Given the description of an element on the screen output the (x, y) to click on. 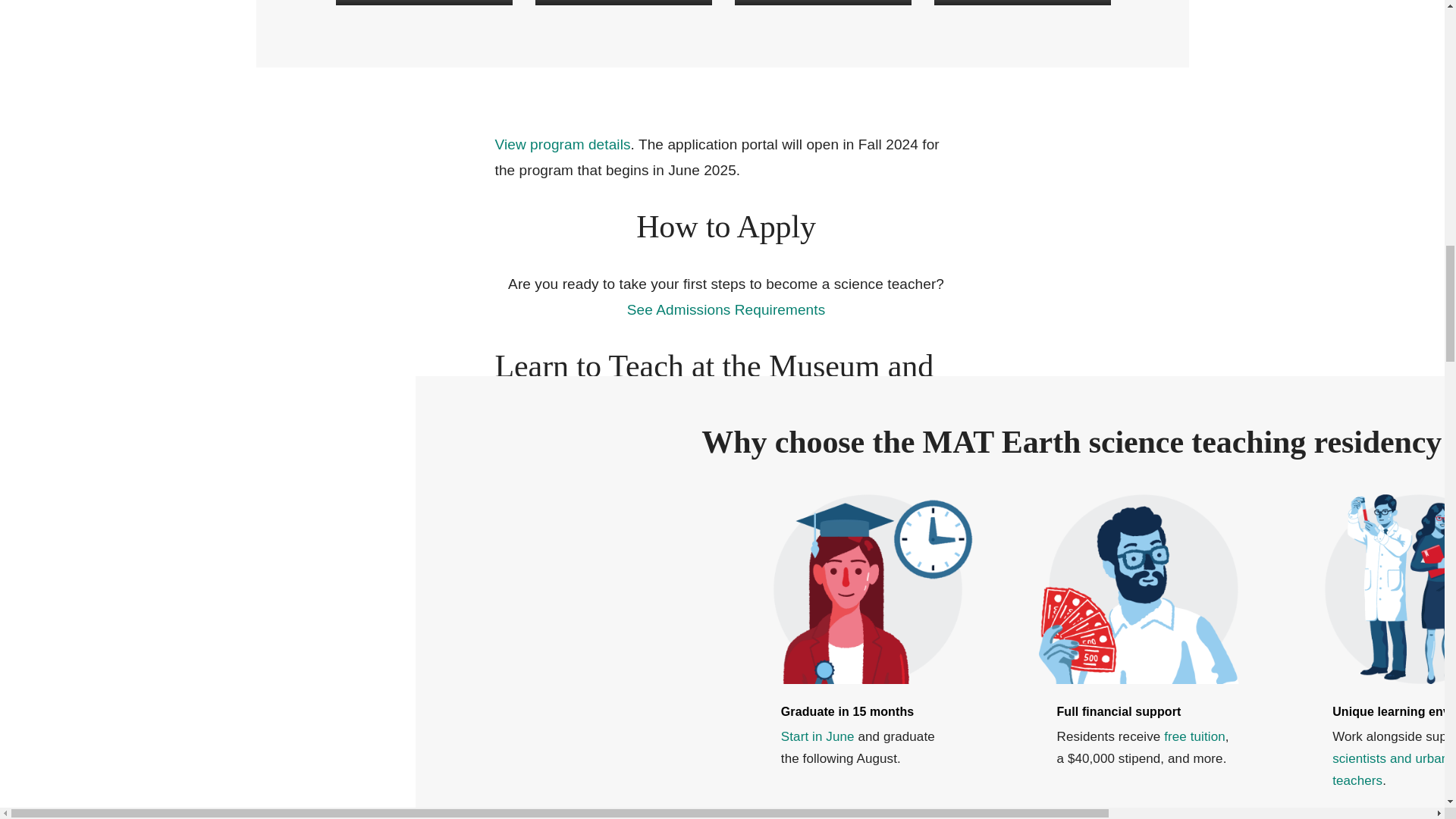
See Admissions Requirements (726, 310)
After Graduation (822, 2)
Program Details (423, 2)
Alumni Testimonials (1022, 2)
Admissions and Financial Support (623, 2)
